Given the description of an element on the screen output the (x, y) to click on. 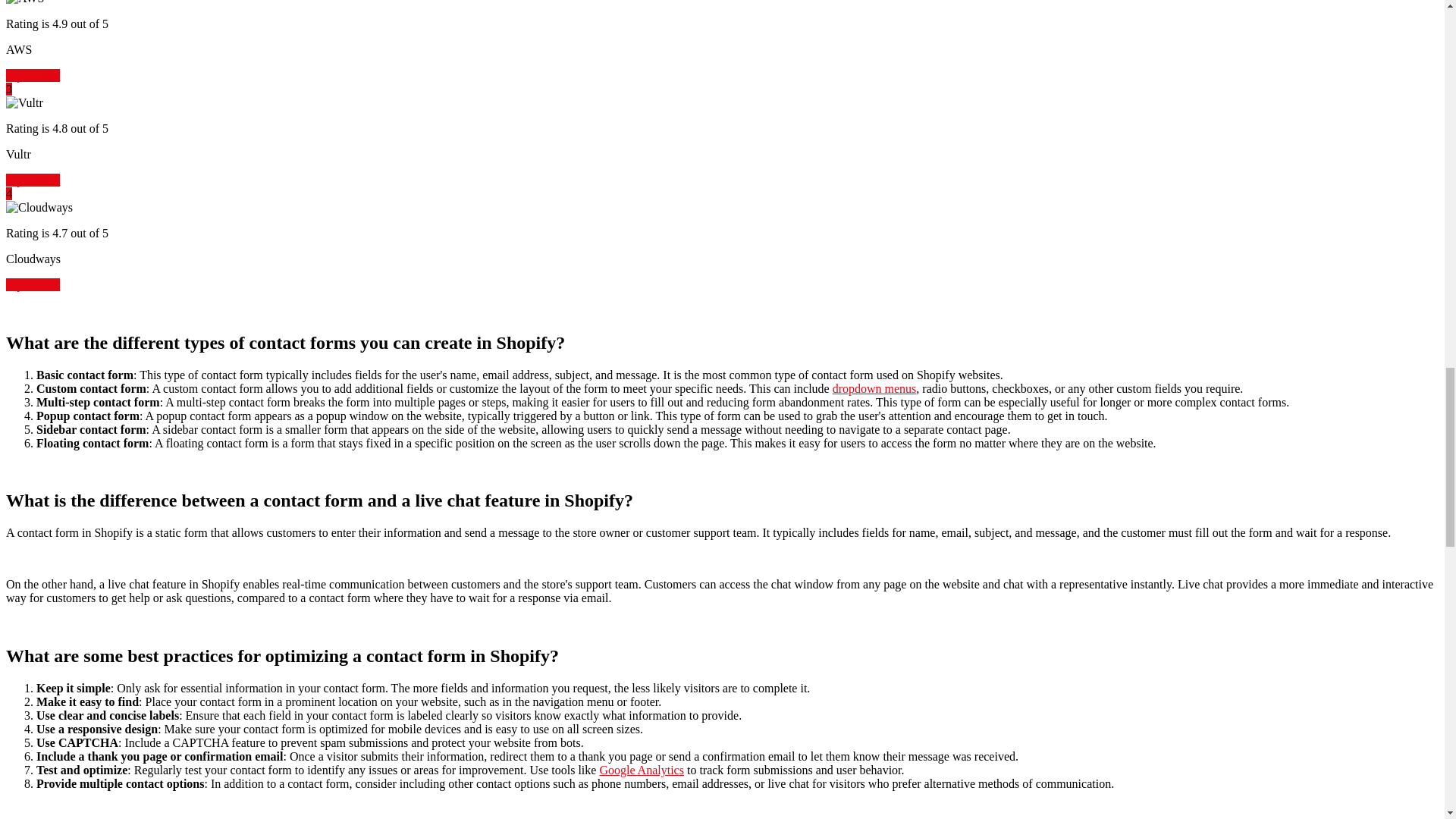
Google Analytics (641, 769)
dropdown menus (874, 388)
Try It Now (32, 284)
Try It Now (32, 74)
Try It Now (32, 179)
